Given the description of an element on the screen output the (x, y) to click on. 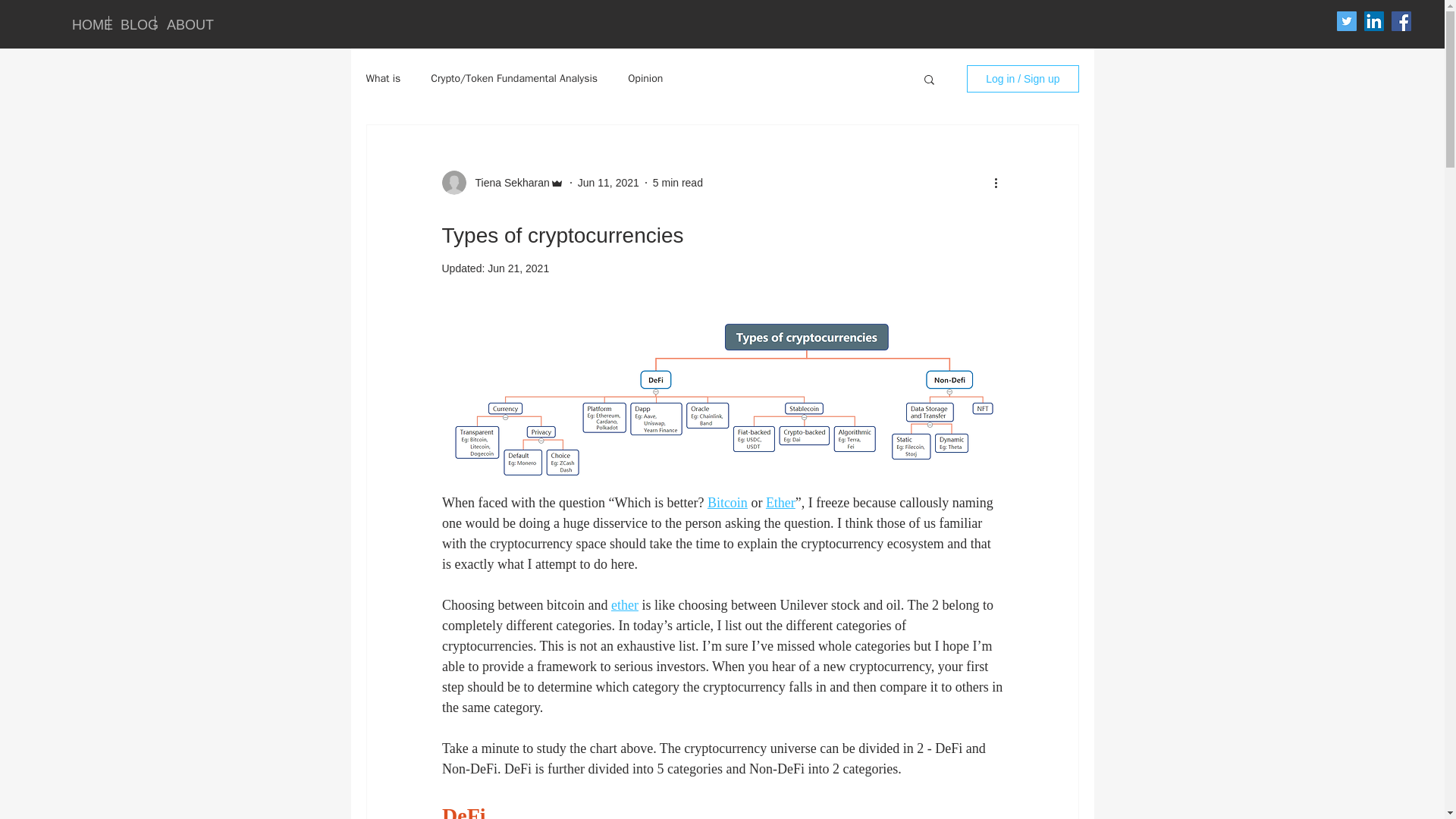
Jun 21, 2021 (517, 268)
Bitcoin (726, 502)
Opinion (644, 78)
Ether (779, 502)
ether (623, 604)
5 min read (677, 182)
Tiena Sekharan (506, 182)
What is (382, 78)
Jun 11, 2021 (608, 182)
